Given the description of an element on the screen output the (x, y) to click on. 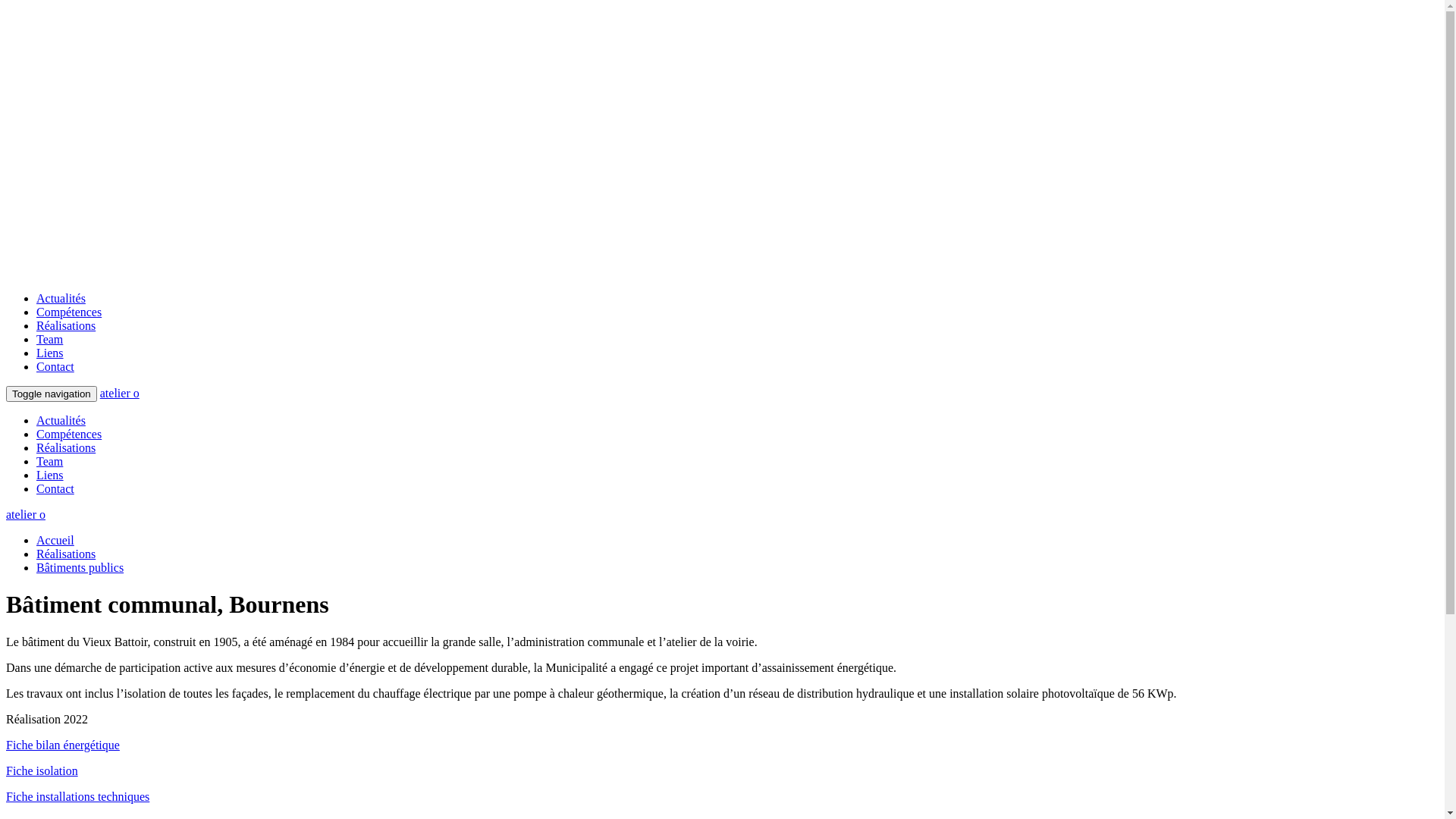
Contact Element type: text (55, 366)
atelier o Element type: text (25, 514)
Team Element type: text (49, 461)
Accueil Element type: text (55, 539)
Team Element type: text (49, 338)
Liens Element type: text (49, 474)
Liens Element type: text (49, 352)
atelier o Element type: text (119, 392)
Toggle navigation Element type: text (51, 393)
Contact Element type: text (55, 488)
Fiche isolation Element type: text (42, 770)
Fiche installations techniques Element type: text (77, 796)
